Given the description of an element on the screen output the (x, y) to click on. 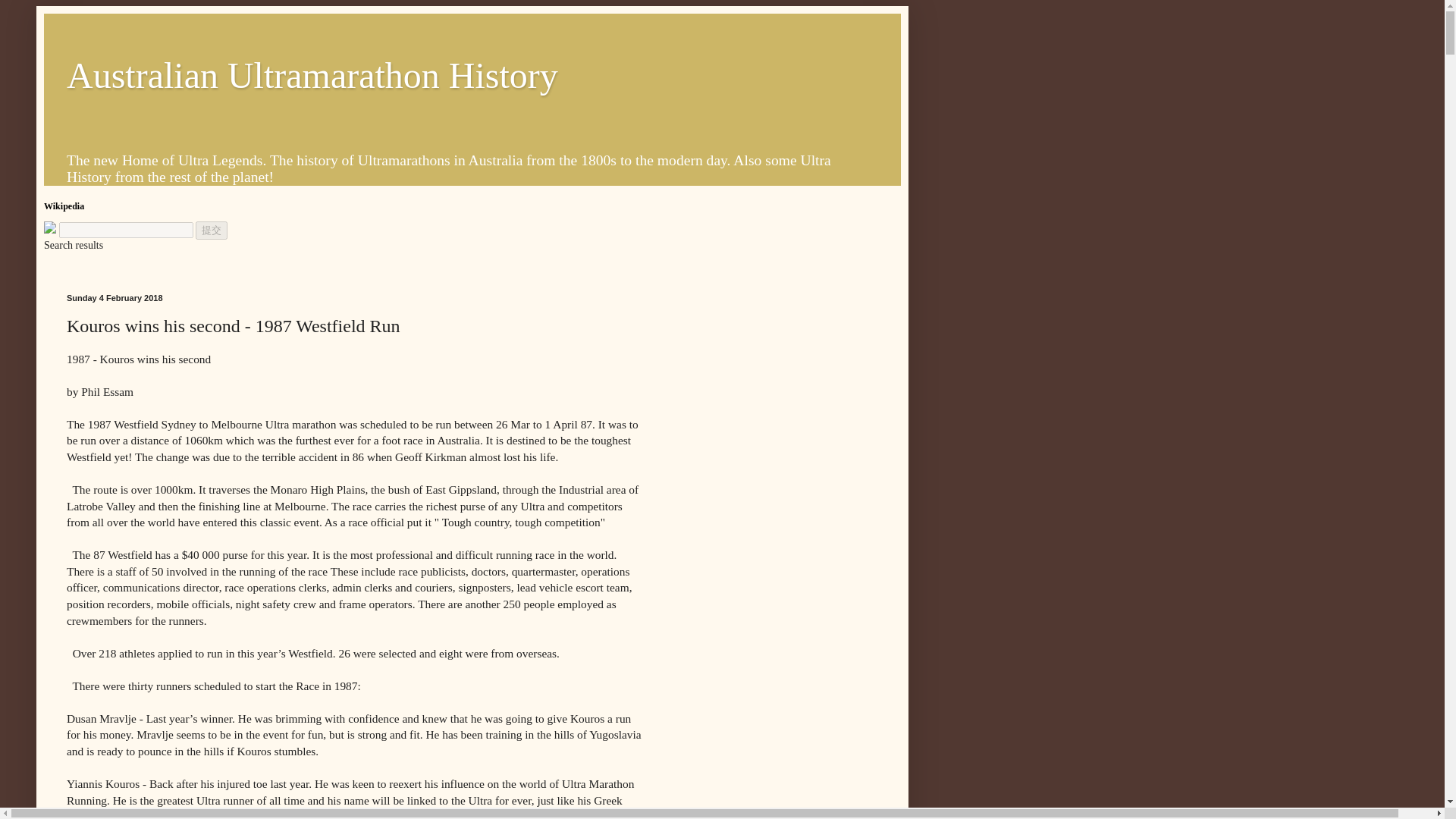
Australian Ultramarathon History (311, 75)
